Given the description of an element on the screen output the (x, y) to click on. 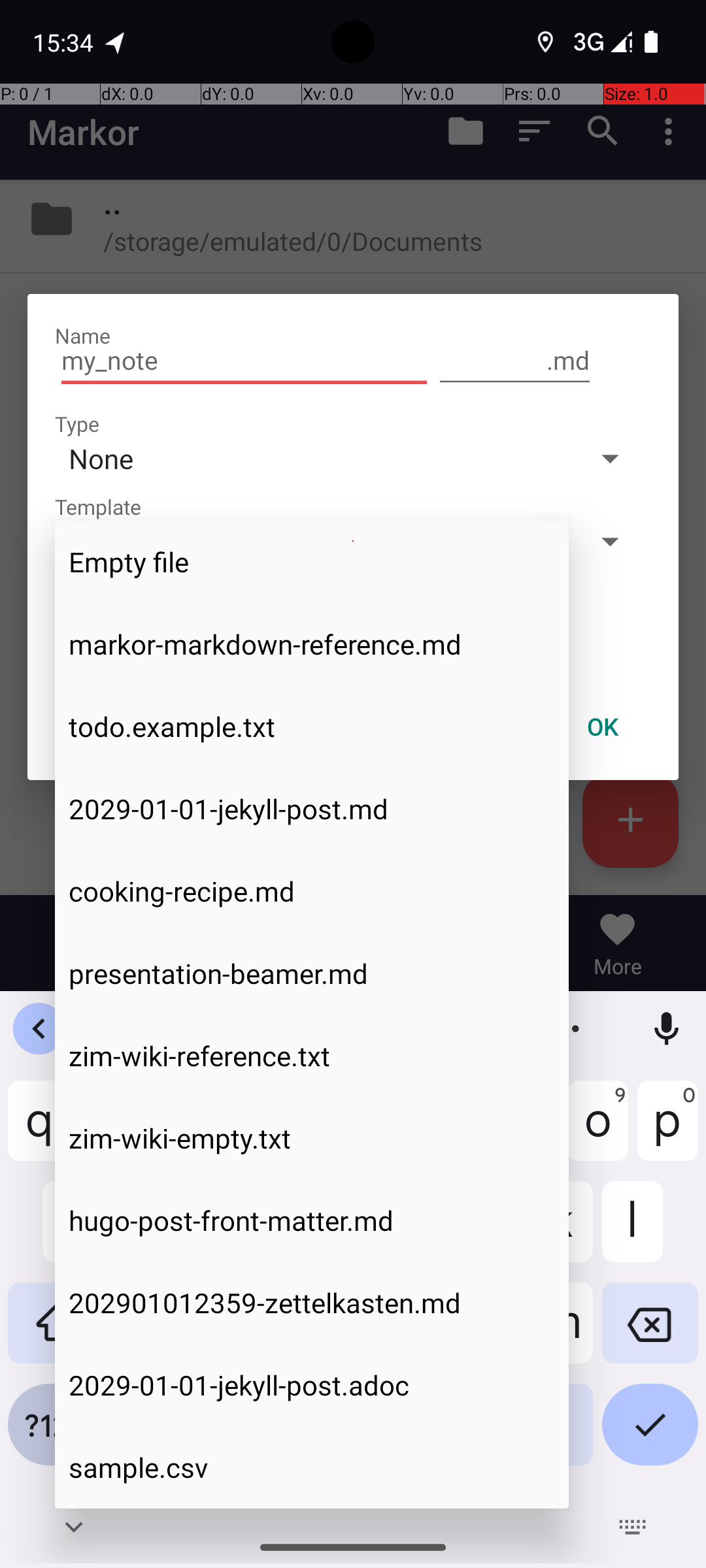
markor-markdown-reference.md Element type: android.widget.CheckedTextView (311, 644)
todo.example.txt Element type: android.widget.CheckedTextView (311, 726)
2029-01-01-jekyll-post.md Element type: android.widget.CheckedTextView (311, 808)
cooking-recipe.md Element type: android.widget.CheckedTextView (311, 890)
presentation-beamer.md Element type: android.widget.CheckedTextView (311, 973)
zim-wiki-reference.txt Element type: android.widget.CheckedTextView (311, 1055)
zim-wiki-empty.txt Element type: android.widget.CheckedTextView (311, 1137)
hugo-post-front-matter.md Element type: android.widget.CheckedTextView (311, 1220)
202901012359-zettelkasten.md Element type: android.widget.CheckedTextView (311, 1302)
2029-01-01-jekyll-post.adoc Element type: android.widget.CheckedTextView (311, 1384)
sample.csv Element type: android.widget.CheckedTextView (311, 1467)
